Given the description of an element on the screen output the (x, y) to click on. 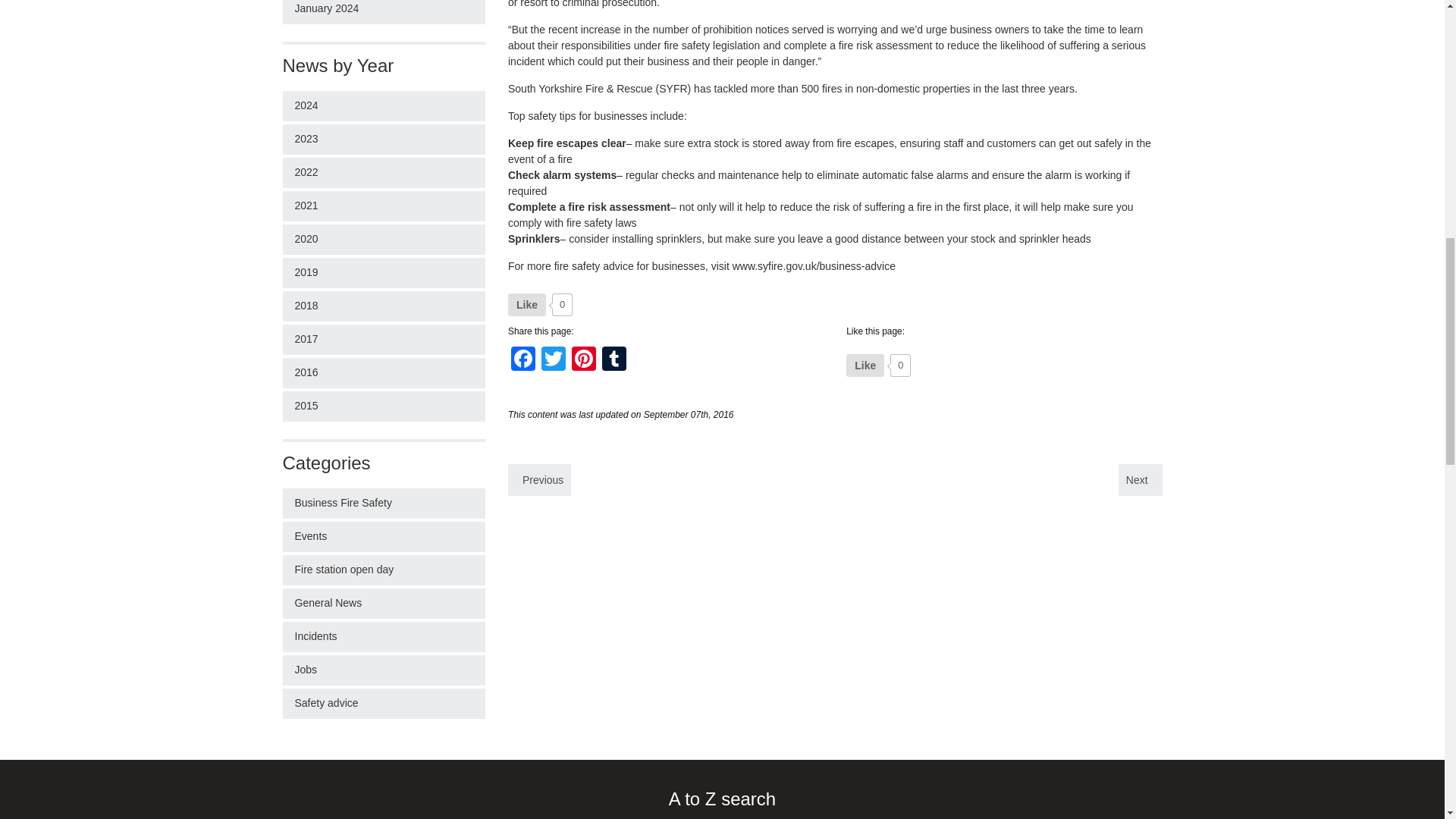
2016 (383, 372)
2020 (383, 239)
2022 (383, 173)
Facebook (523, 360)
Tumblr (613, 360)
2021 (383, 205)
2019 (383, 272)
2015 (383, 406)
2024 (383, 105)
2017 (383, 339)
Pinterest (583, 360)
January 2024 (383, 12)
2023 (383, 139)
Twitter (553, 360)
2018 (383, 306)
